Given the description of an element on the screen output the (x, y) to click on. 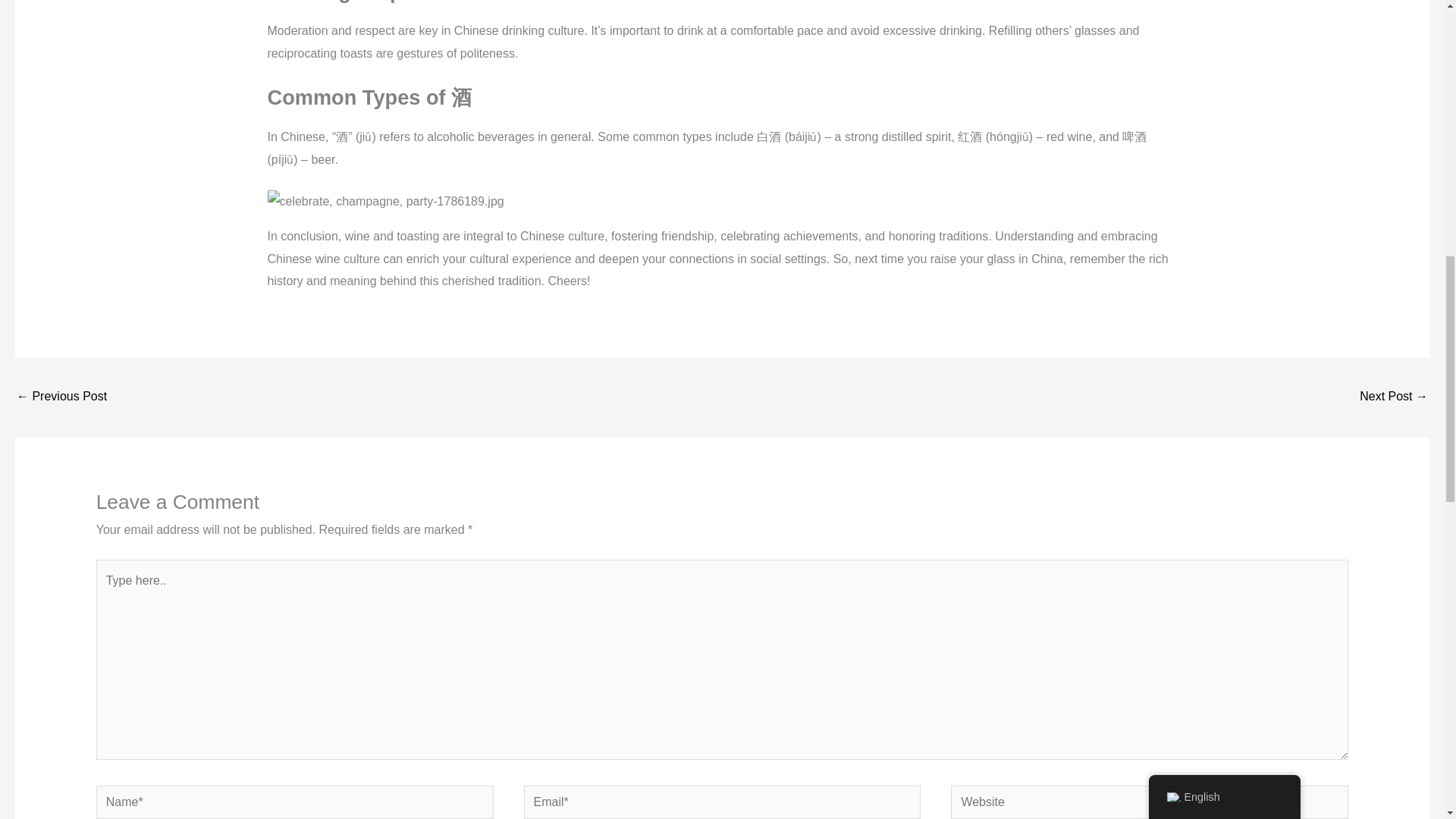
Chinese Dating Culture (1393, 397)
What does the Pinky Finger Mean in Chinese? (61, 397)
